Given the description of an element on the screen output the (x, y) to click on. 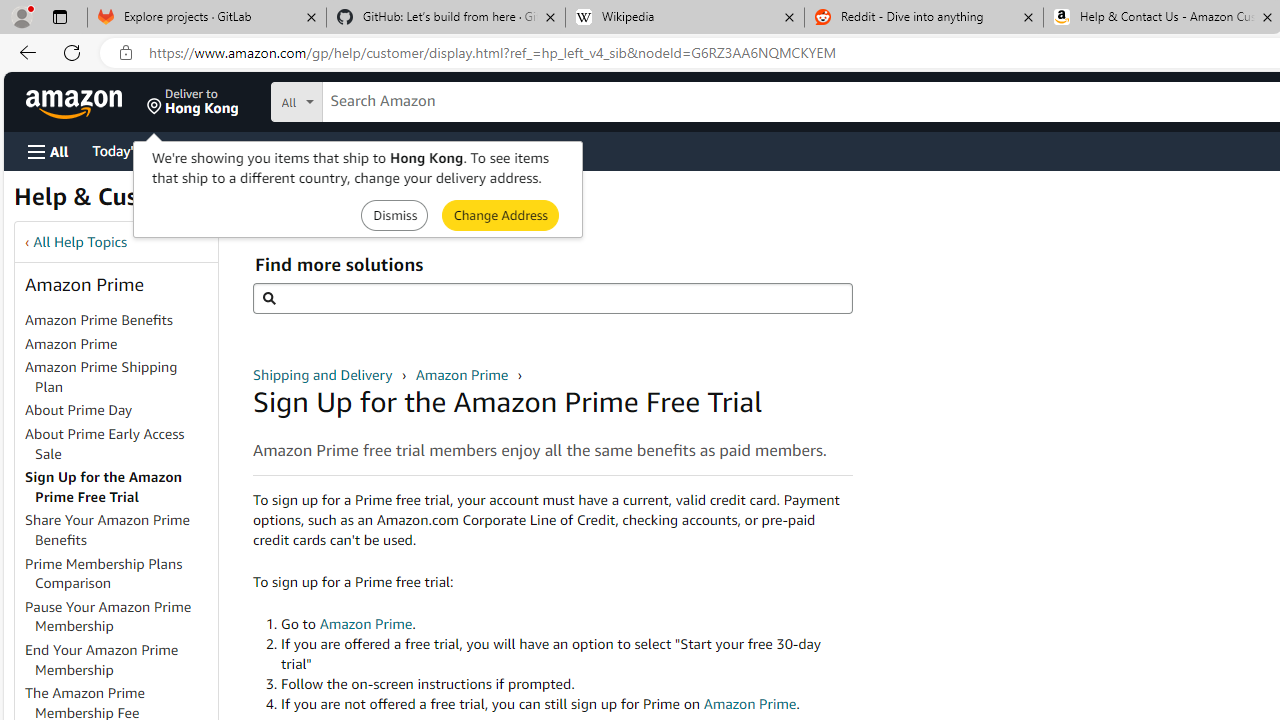
Amazon Prime Benefits (98, 320)
Shipping and Delivery  (324, 374)
All Help Topics (80, 242)
